Given the description of an element on the screen output the (x, y) to click on. 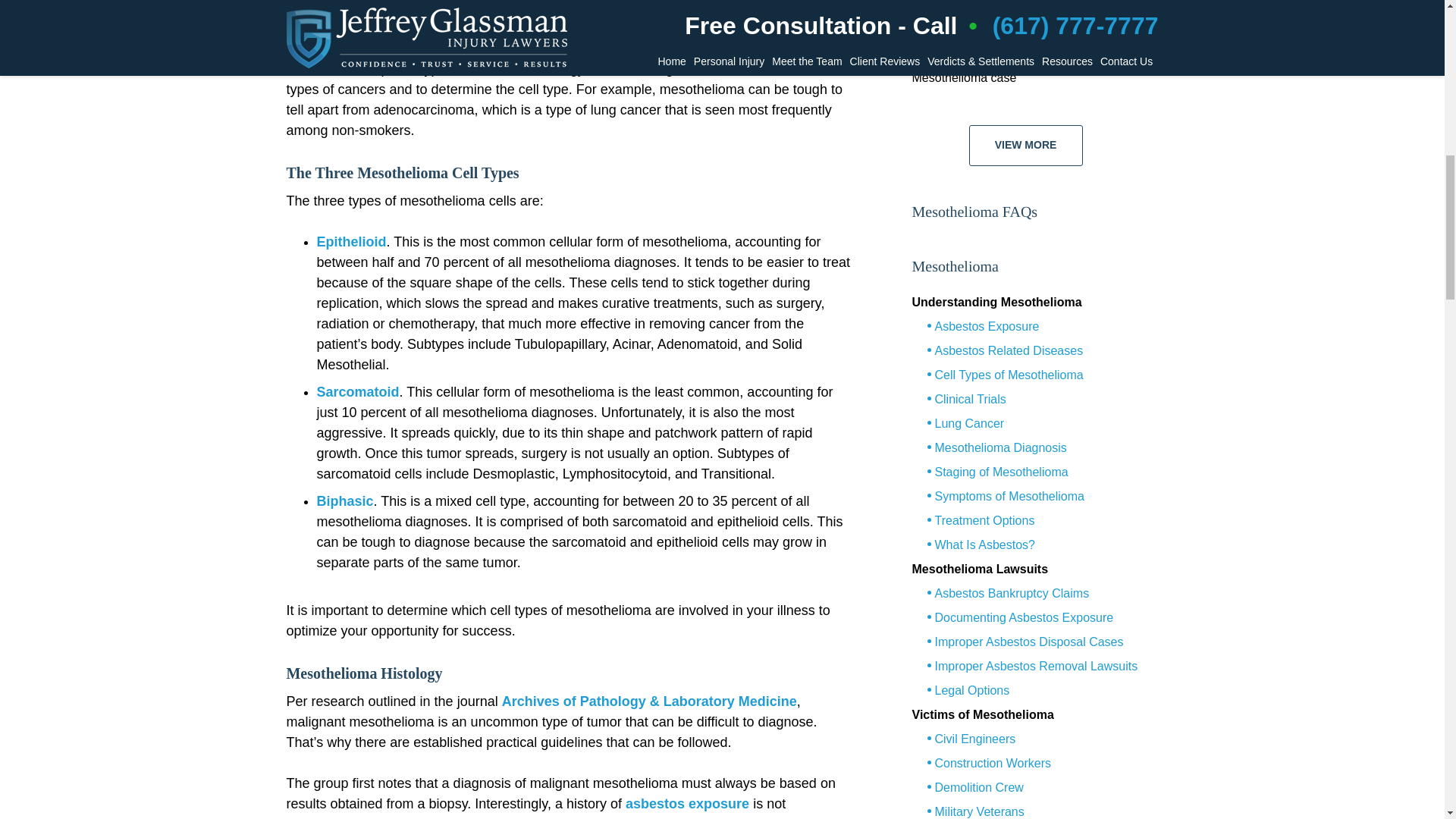
Epithelioid (352, 241)
asbestos exposure (687, 803)
Sarcomatoid (357, 391)
Biphasic (345, 500)
